Given the description of an element on the screen output the (x, y) to click on. 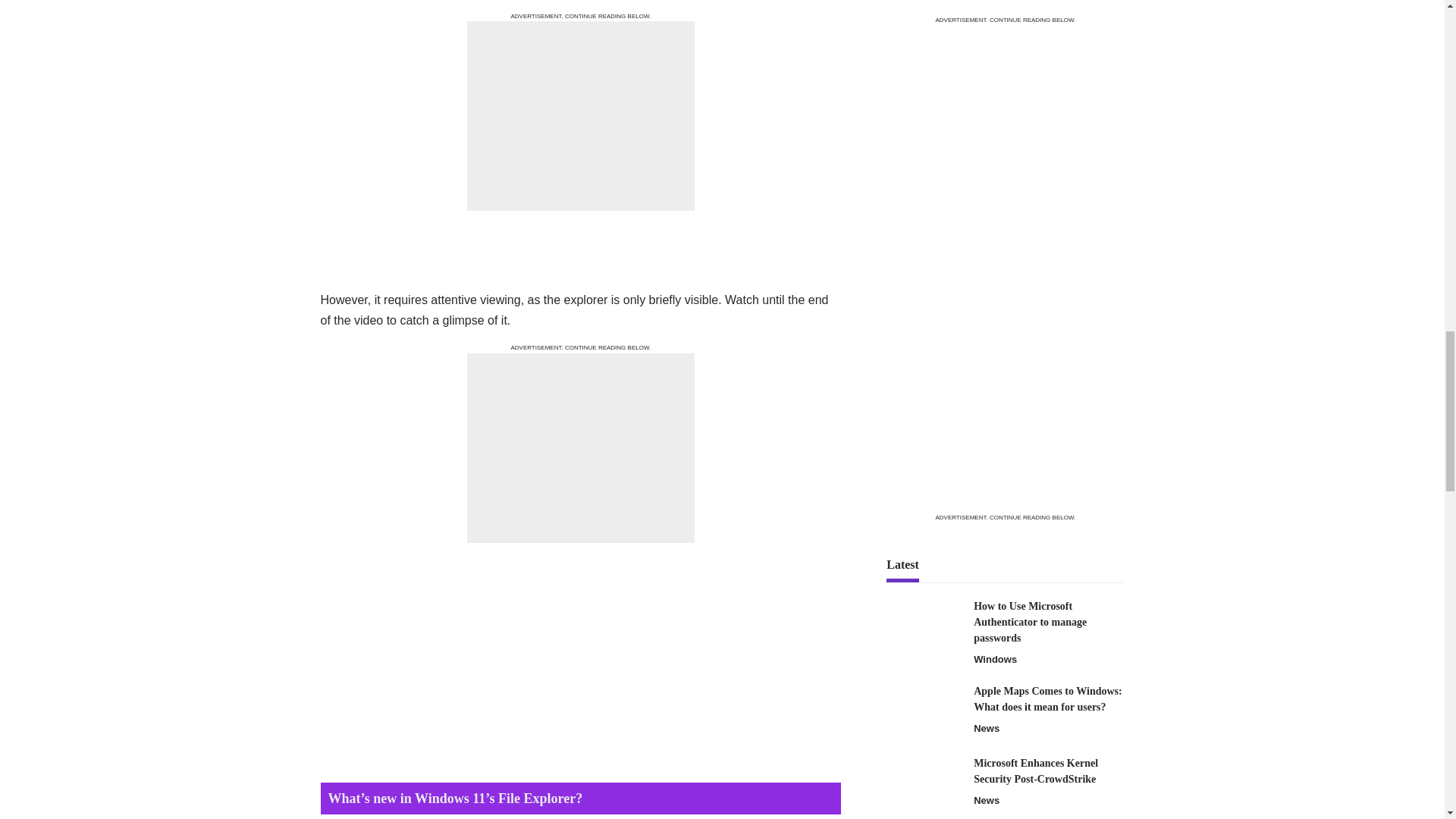
Microsoft Enhances Kernel Security Post-CrowdStrike (924, 18)
